Given the description of an element on the screen output the (x, y) to click on. 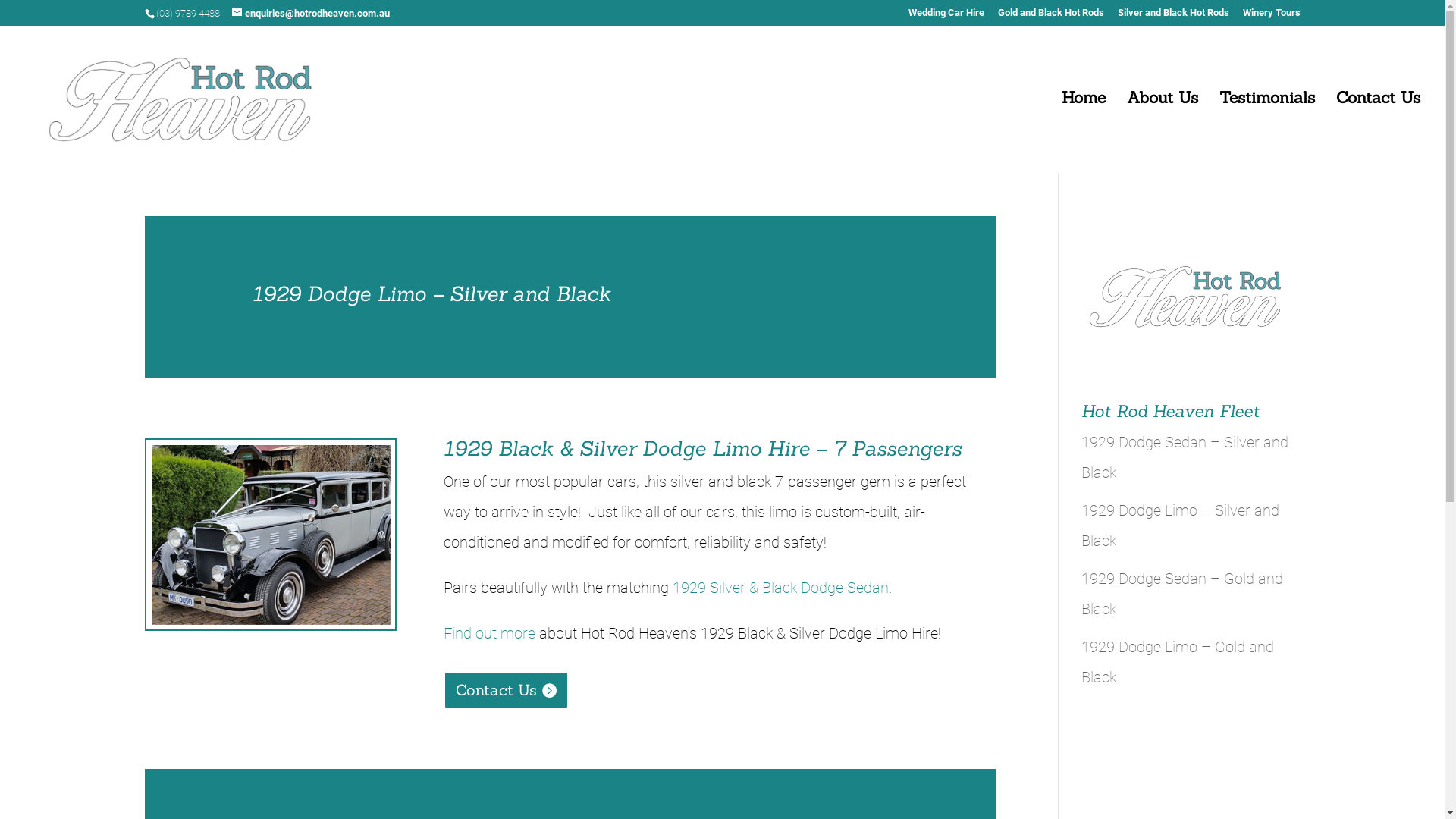
Winery Tours Element type: text (1270, 16)
Find out more Element type: text (489, 633)
Contact Us Element type: text (505, 690)
About Us Element type: text (1162, 130)
enquiries@hotrodheaven.com.au Element type: text (310, 12)
Gold and Black Hot Rods Element type: text (1050, 16)
Wedding Car Hire Element type: text (946, 16)
1929 Silver Dodge Limo Hire - Hot Rod Heaven Element type: hover (270, 534)
1929 Silver & Black Dodge Sedan Element type: text (780, 587)
Home Element type: text (1083, 130)
Contact Us Element type: text (1378, 130)
Testimonials Element type: text (1266, 130)
Silver and Black Hot Rods Element type: text (1173, 16)
